Given the description of an element on the screen output the (x, y) to click on. 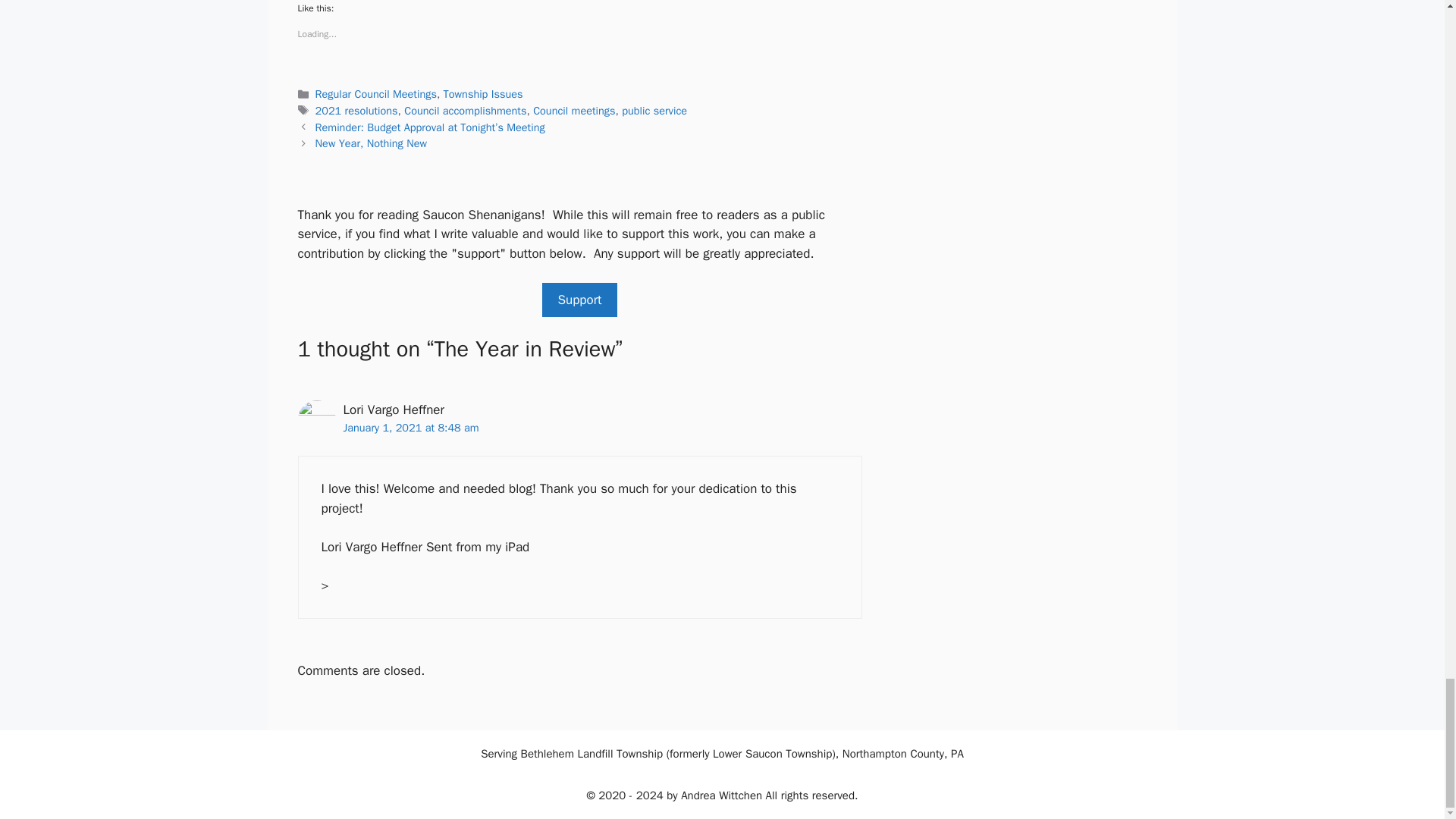
2021 resolutions (356, 110)
New Year, Nothing New (370, 142)
Support (578, 299)
public service (654, 110)
Township Issues (483, 93)
Council accomplishments (464, 110)
January 1, 2021 at 8:48 am (410, 427)
Council meetings (573, 110)
Regular Council Meetings (375, 93)
